Given the description of an element on the screen output the (x, y) to click on. 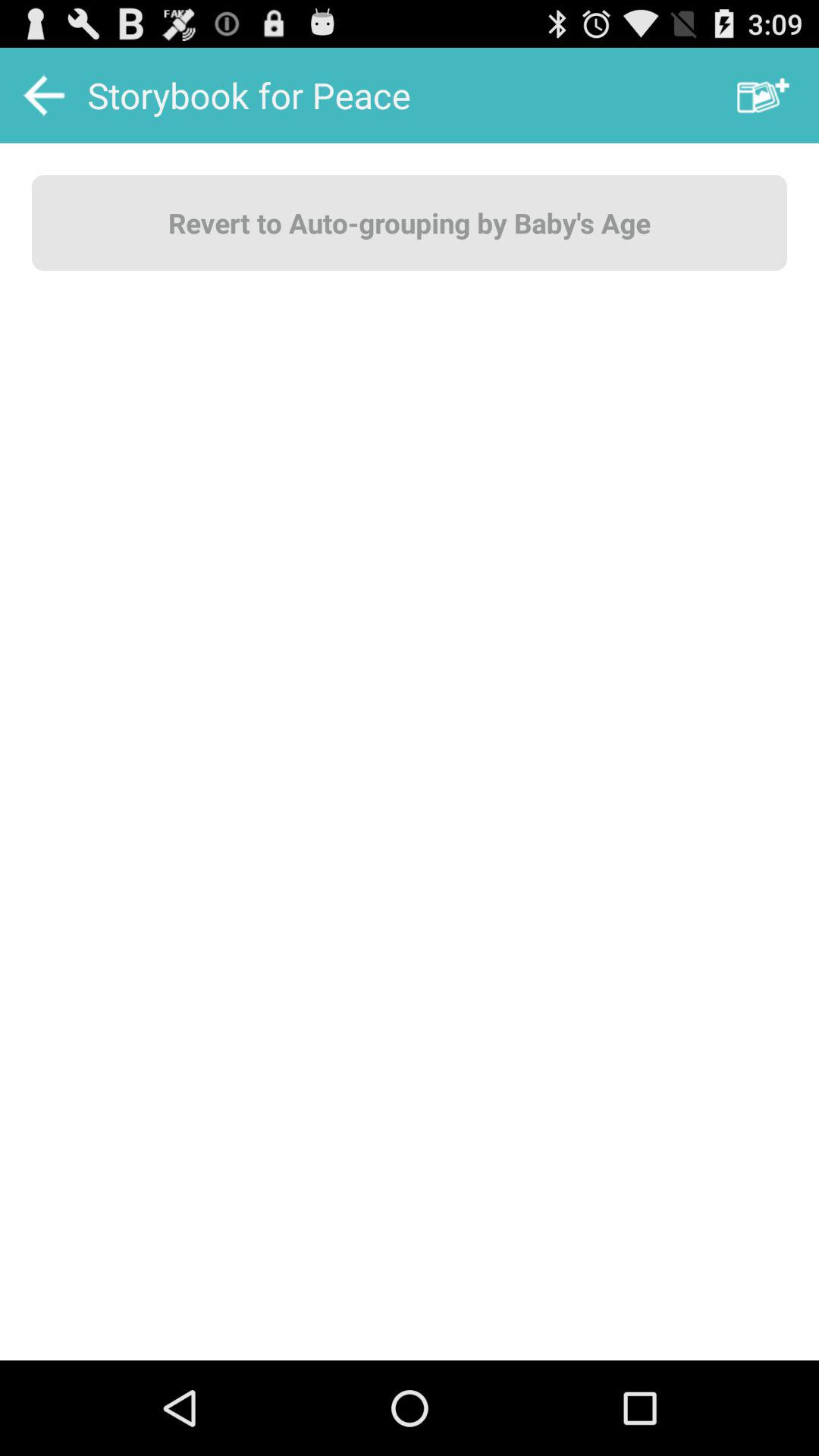
launch item at the top right corner (763, 95)
